Given the description of an element on the screen output the (x, y) to click on. 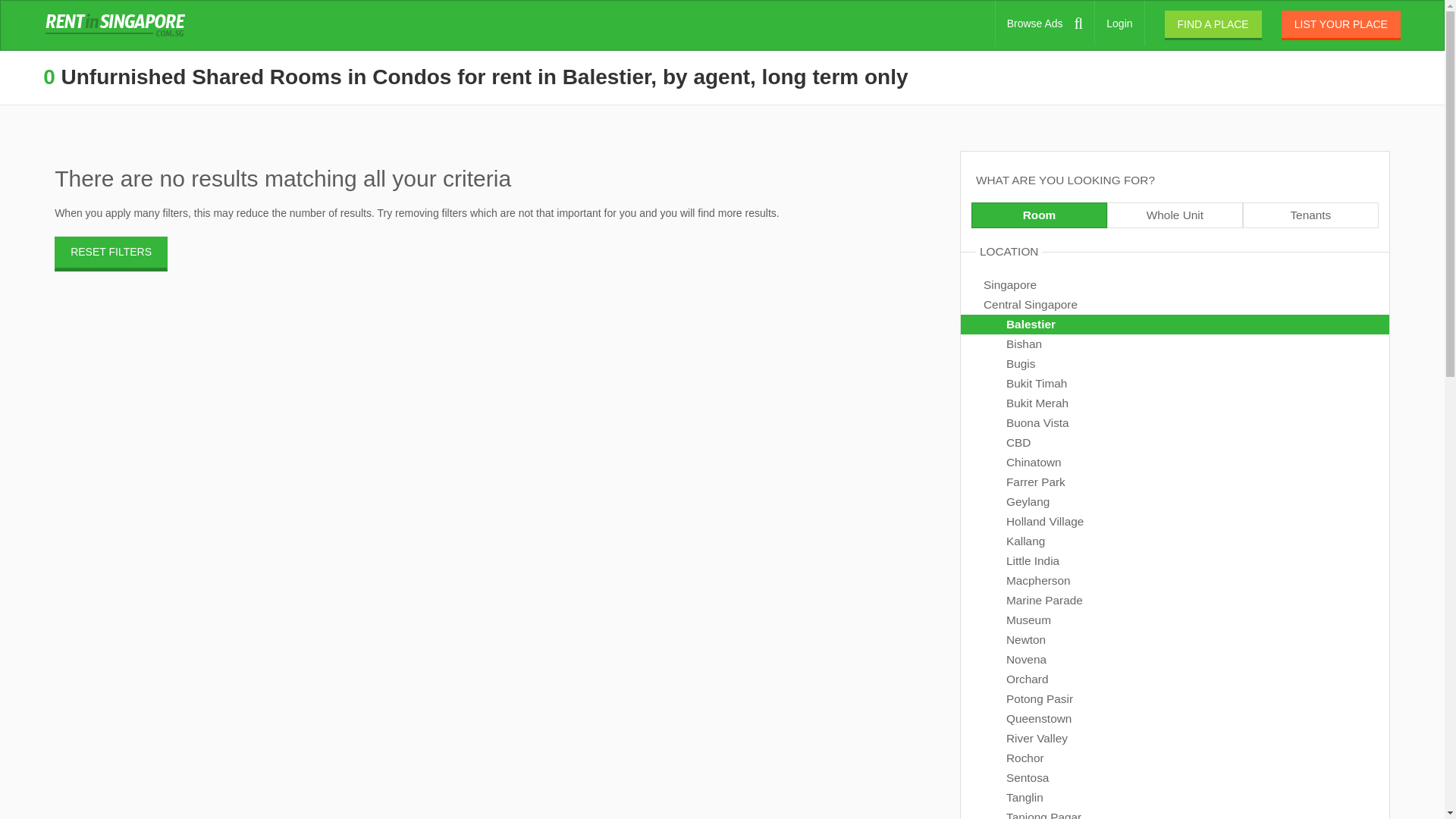
Central Singapore (1174, 304)
River Valley (1174, 738)
Whole Unit (1174, 215)
Bugis, Central Singapore (1174, 363)
Marine Parade (1174, 600)
Bukit Merah (1174, 403)
Central Singapore (1174, 304)
Holland Village (1174, 521)
Room (1038, 215)
Orchard (1174, 679)
Browse Ads (1045, 22)
Macpherson (1174, 580)
Bukit Timah, Central Singapore (1174, 383)
Queenstown (1174, 718)
Bukit Merah, Central Singapore (1174, 403)
